Given the description of an element on the screen output the (x, y) to click on. 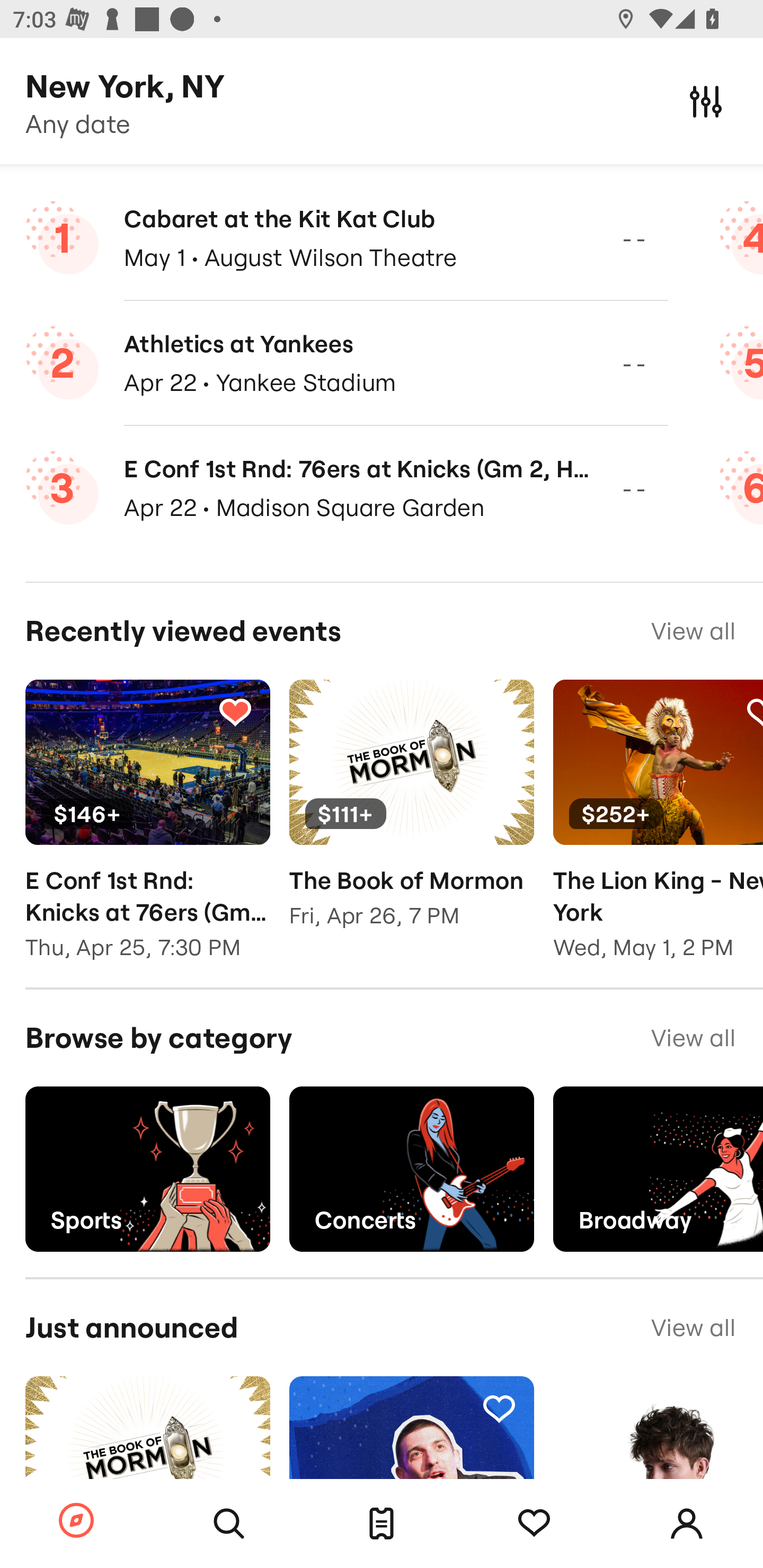
Filters (705, 100)
View all (693, 630)
Tracking (234, 711)
Tracking (498, 711)
View all (693, 1037)
Sports (147, 1168)
Concerts (411, 1168)
Broadway (658, 1168)
View all (693, 1327)
Tracking (234, 1407)
Tracking (498, 1407)
Browse (76, 1521)
Search (228, 1523)
Tickets (381, 1523)
Tracking (533, 1523)
Account (686, 1523)
